Given the description of an element on the screen output the (x, y) to click on. 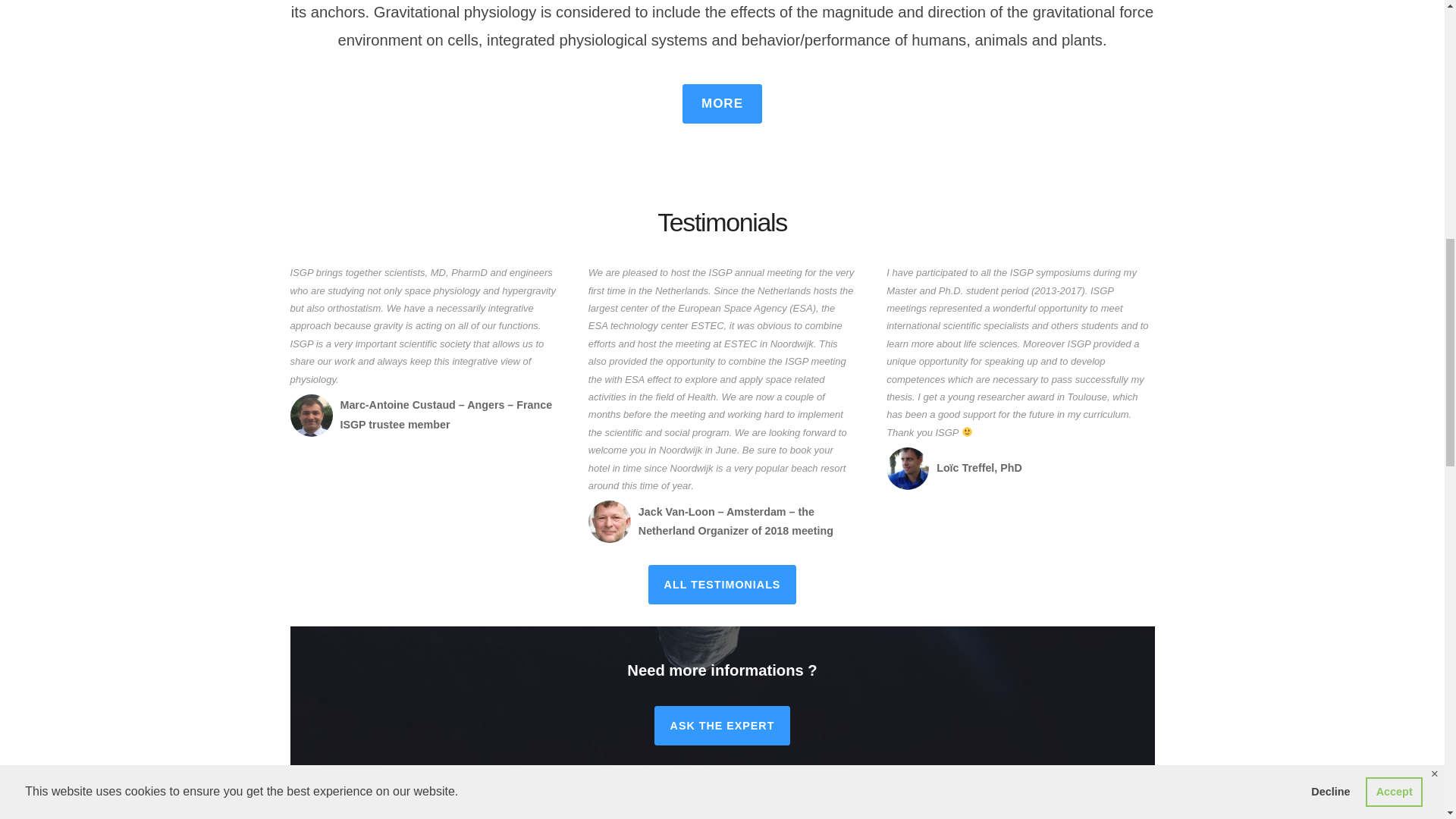
MORE (721, 103)
ASK THE EXPERT (721, 725)
ALL TESTIMONIALS (721, 584)
